Given the description of an element on the screen output the (x, y) to click on. 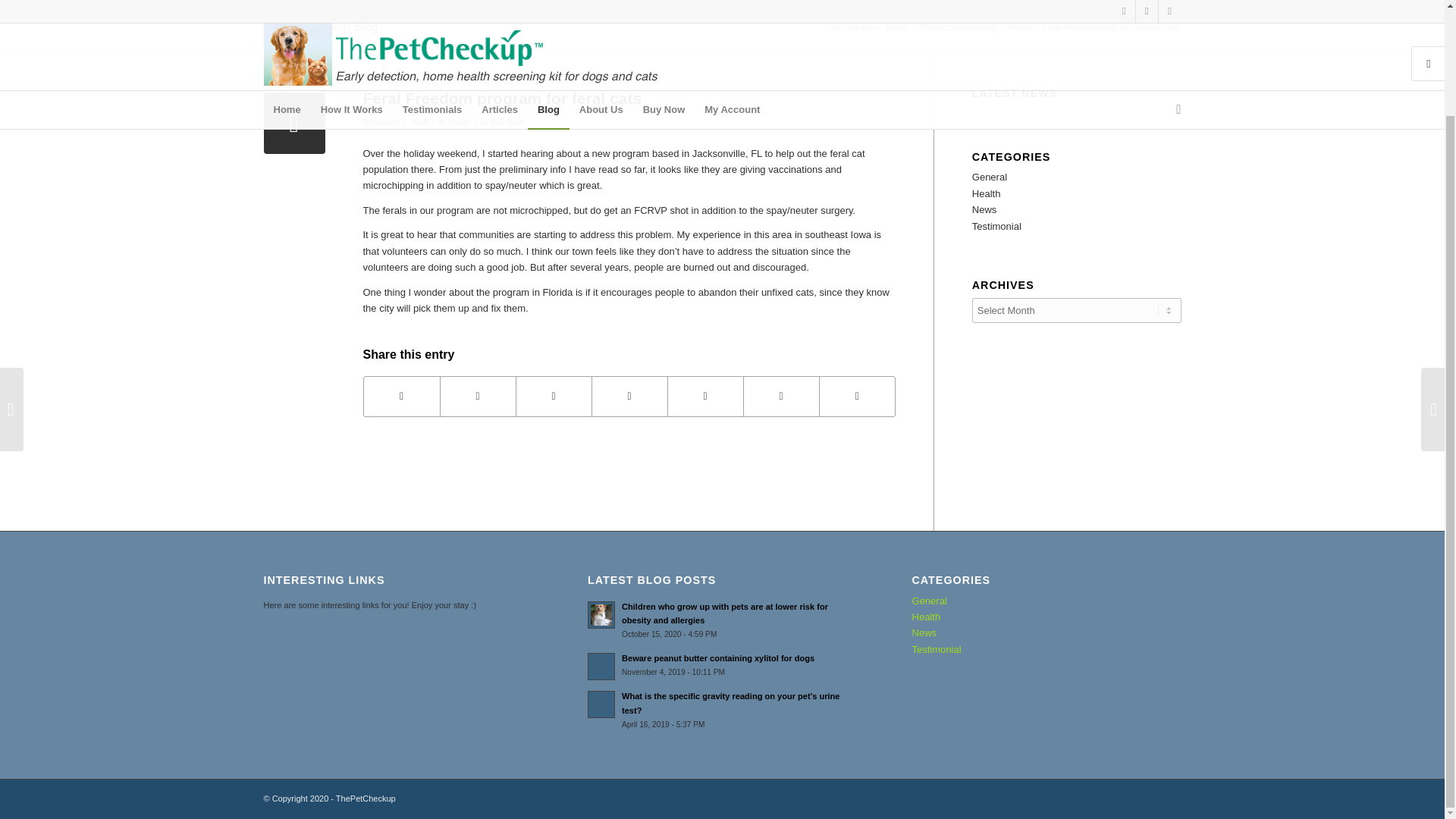
ThePetCheckup Blog (956, 27)
Feral Freedom program for feral cats (293, 122)
Buy Now (664, 2)
Articles (499, 2)
Testimonials (432, 2)
ThePetCheckup (896, 27)
ThePetCheckup Blog (320, 26)
Health (457, 121)
How It Works (352, 2)
Home (287, 2)
About Us (601, 2)
Permanent Link: ThePetCheckup Blog (320, 26)
Blog (548, 2)
ThePetCheckup Blog (956, 27)
My Account (732, 2)
